Given the description of an element on the screen output the (x, y) to click on. 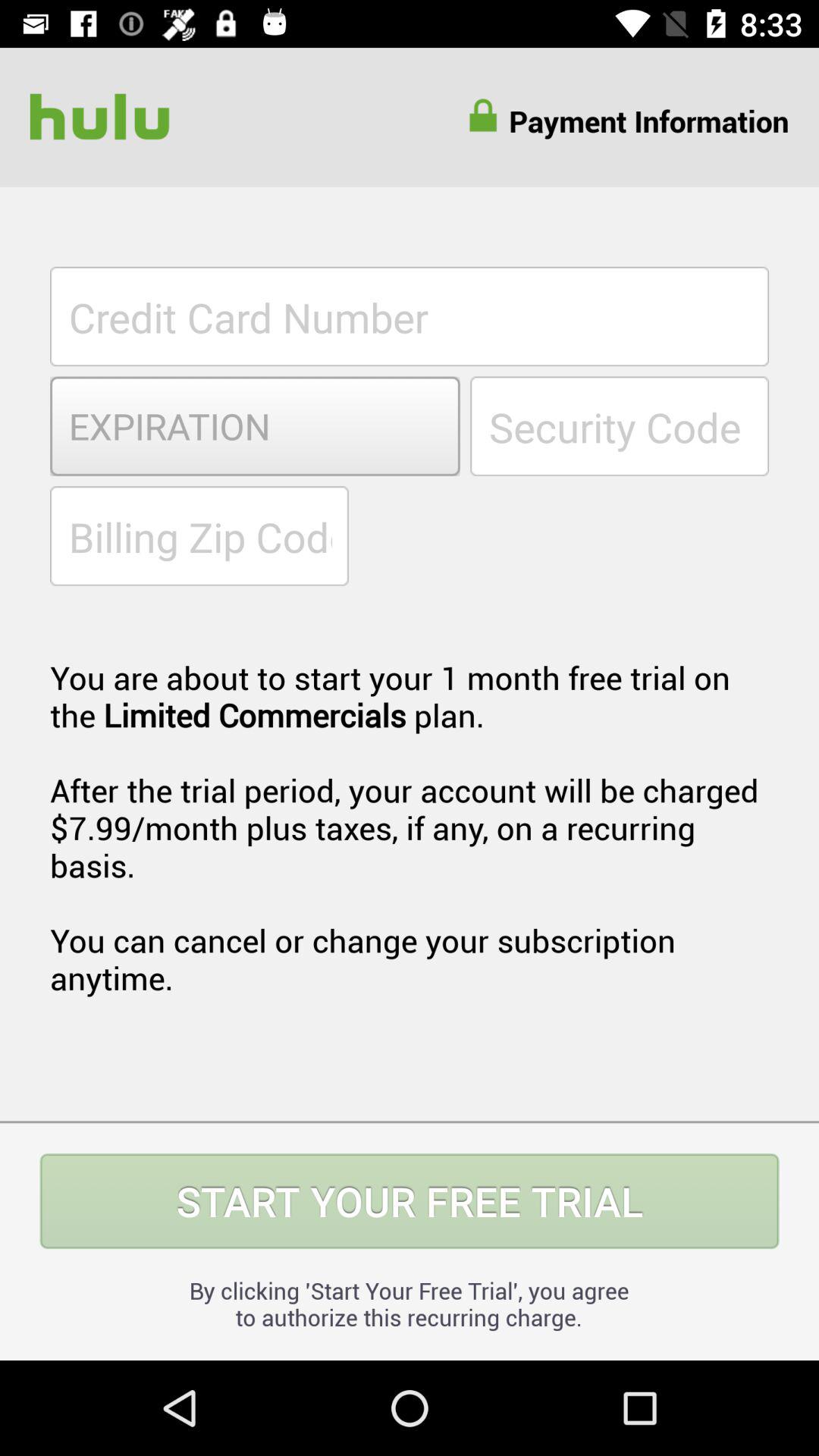
turn on the item above expiration item (409, 316)
